Given the description of an element on the screen output the (x, y) to click on. 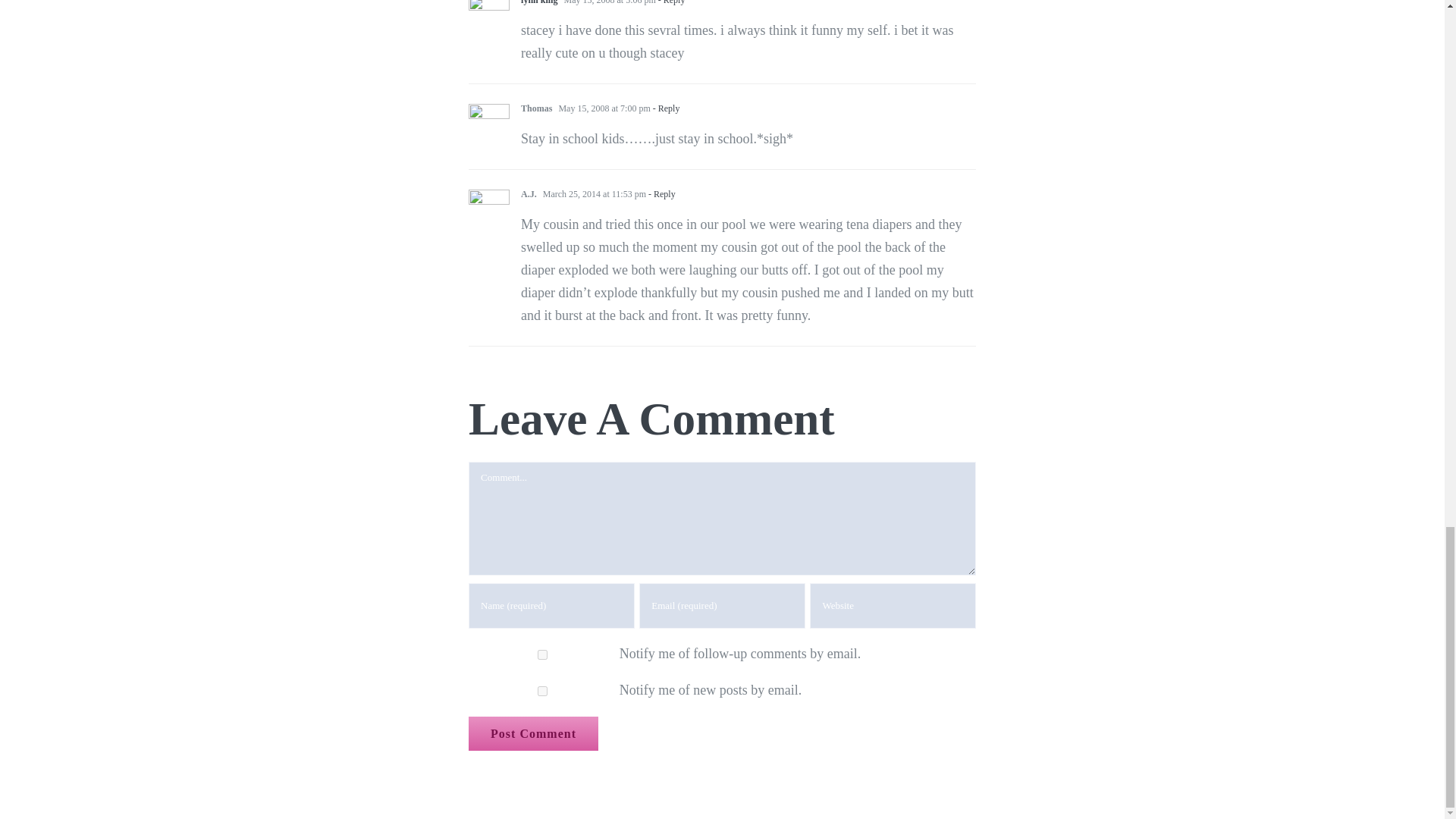
- Reply (670, 2)
Post Comment (533, 733)
subscribe (541, 691)
subscribe (541, 655)
- Reply (664, 107)
lynn king (539, 2)
